Given the description of an element on the screen output the (x, y) to click on. 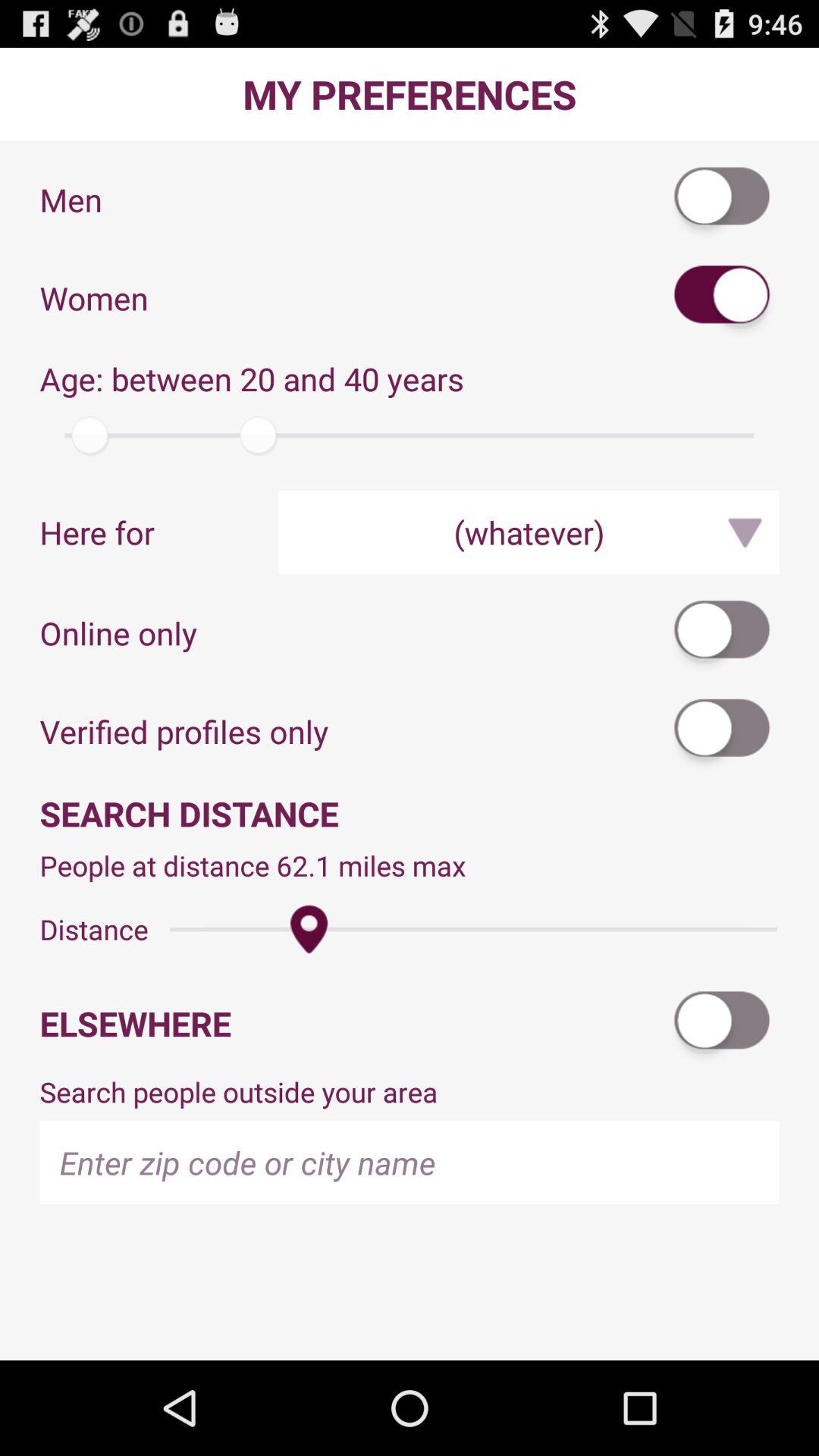
open the item above search people outside app (722, 1023)
